Given the description of an element on the screen output the (x, y) to click on. 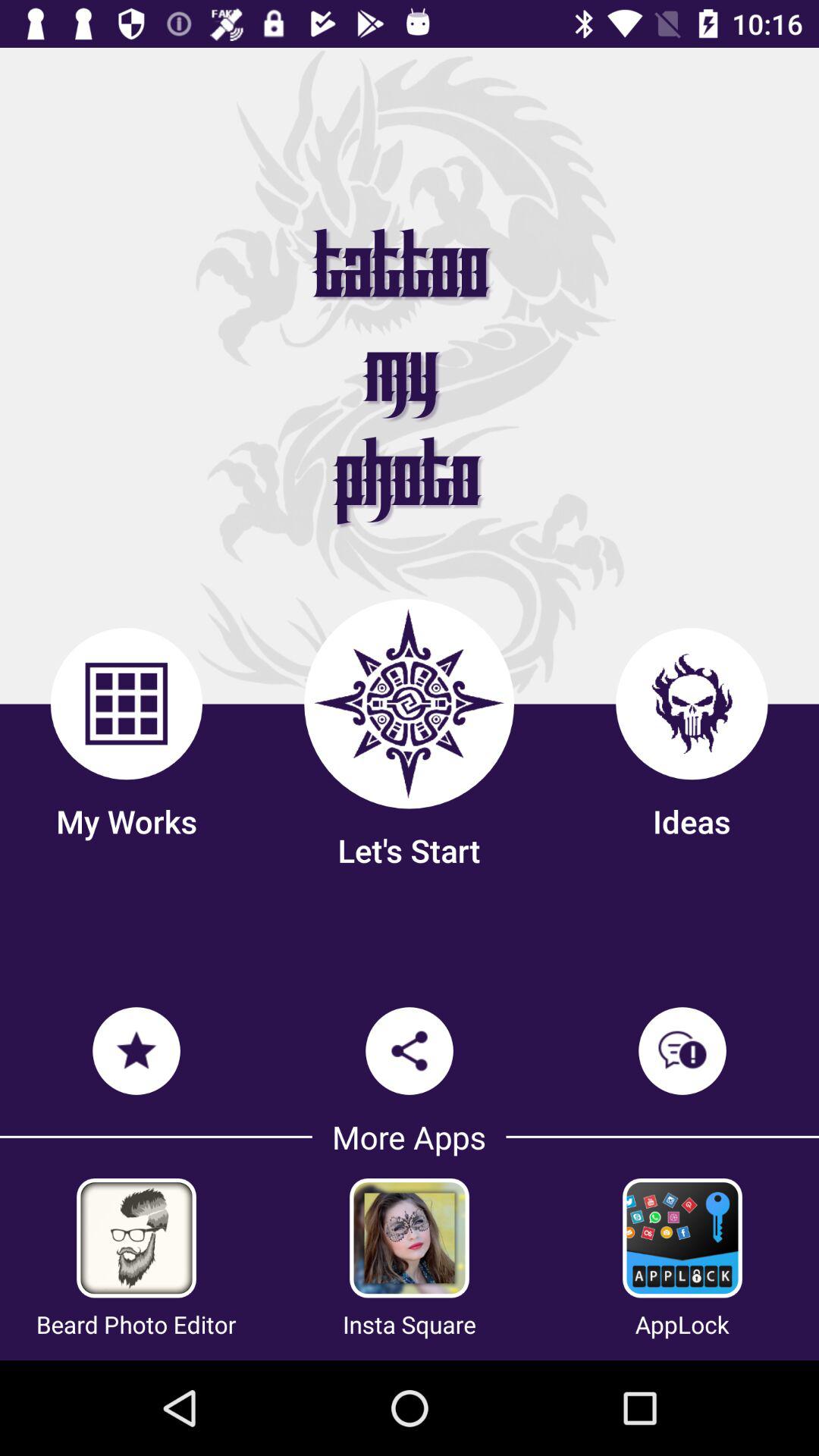
turn off item to the right of insta square (682, 1324)
